Given the description of an element on the screen output the (x, y) to click on. 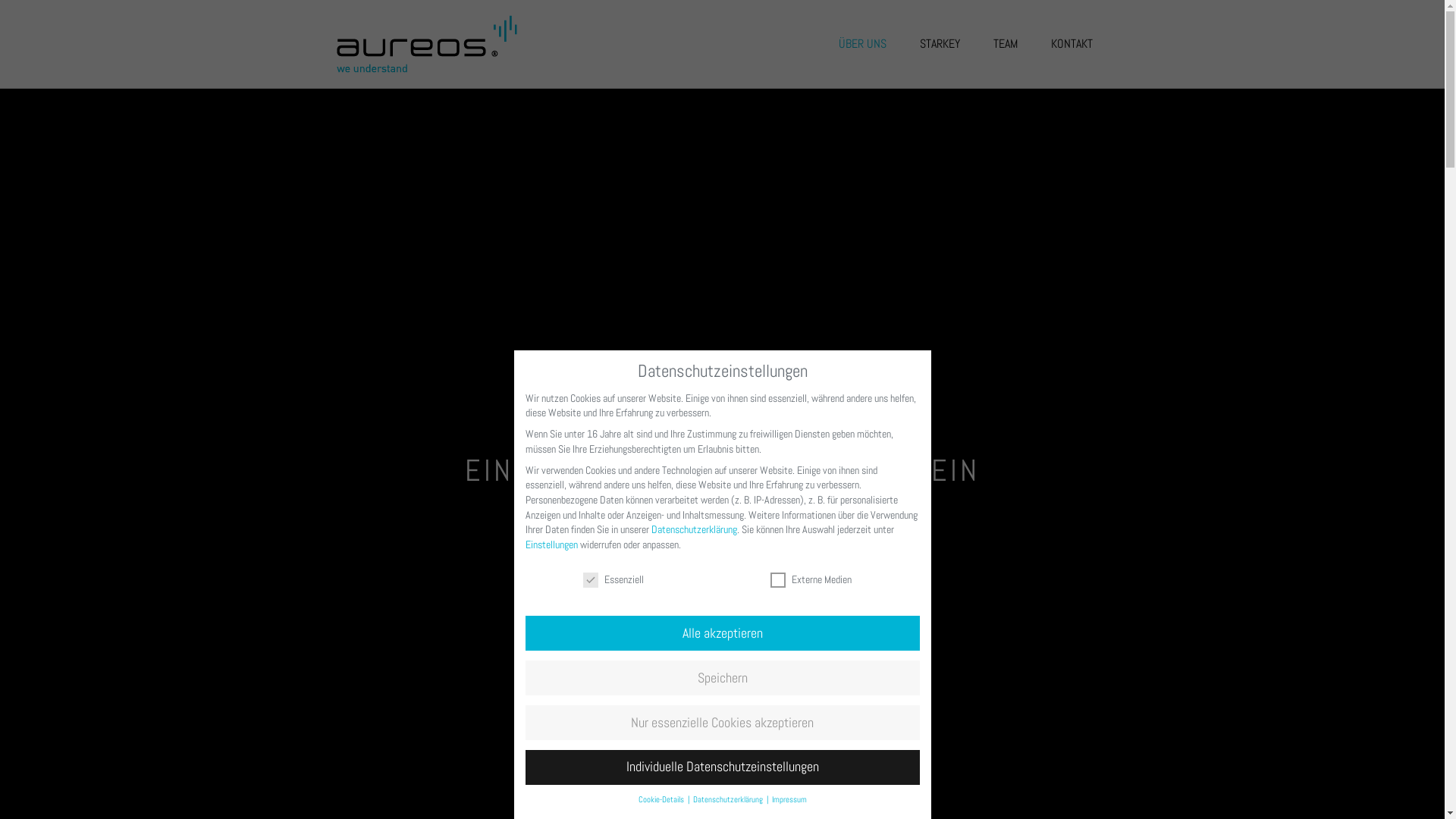
Speichern Element type: text (721, 677)
STARKEY Element type: text (938, 43)
Alle akzeptieren Element type: text (721, 632)
KONTAKT Element type: text (1071, 43)
Individuelle Datenschutzeinstellungen Element type: text (721, 766)
Cookie-Details Element type: text (662, 799)
Einstellungen Element type: text (550, 544)
Nur essenzielle Cookies akzeptieren Element type: text (721, 722)
TEAM Element type: text (1005, 43)
Impressum Element type: text (788, 799)
